Given the description of an element on the screen output the (x, y) to click on. 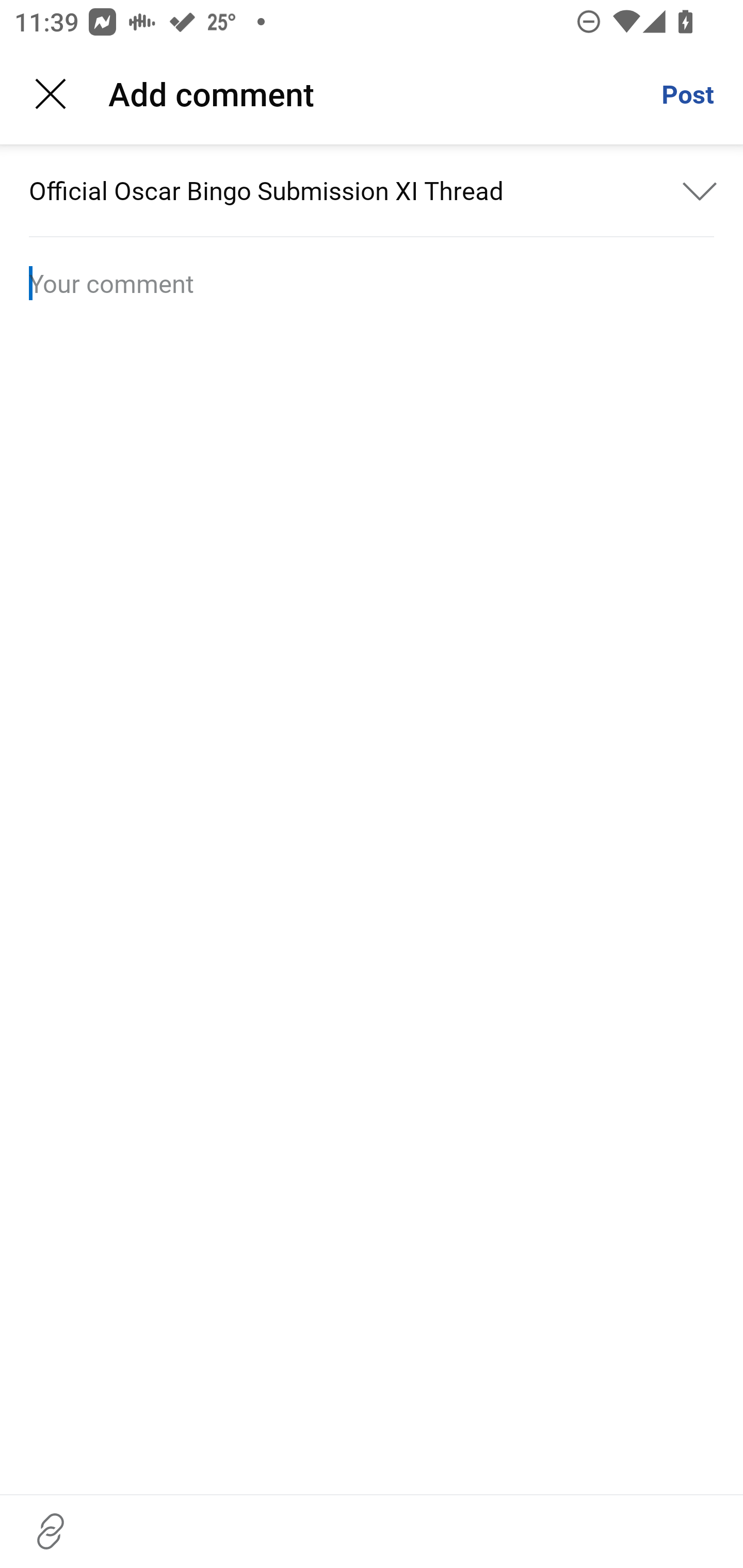
Close (50, 93)
Post (687, 94)
Show original post (699, 190)
Your comment (371, 282)
Insert a link (50, 1530)
